Given the description of an element on the screen output the (x, y) to click on. 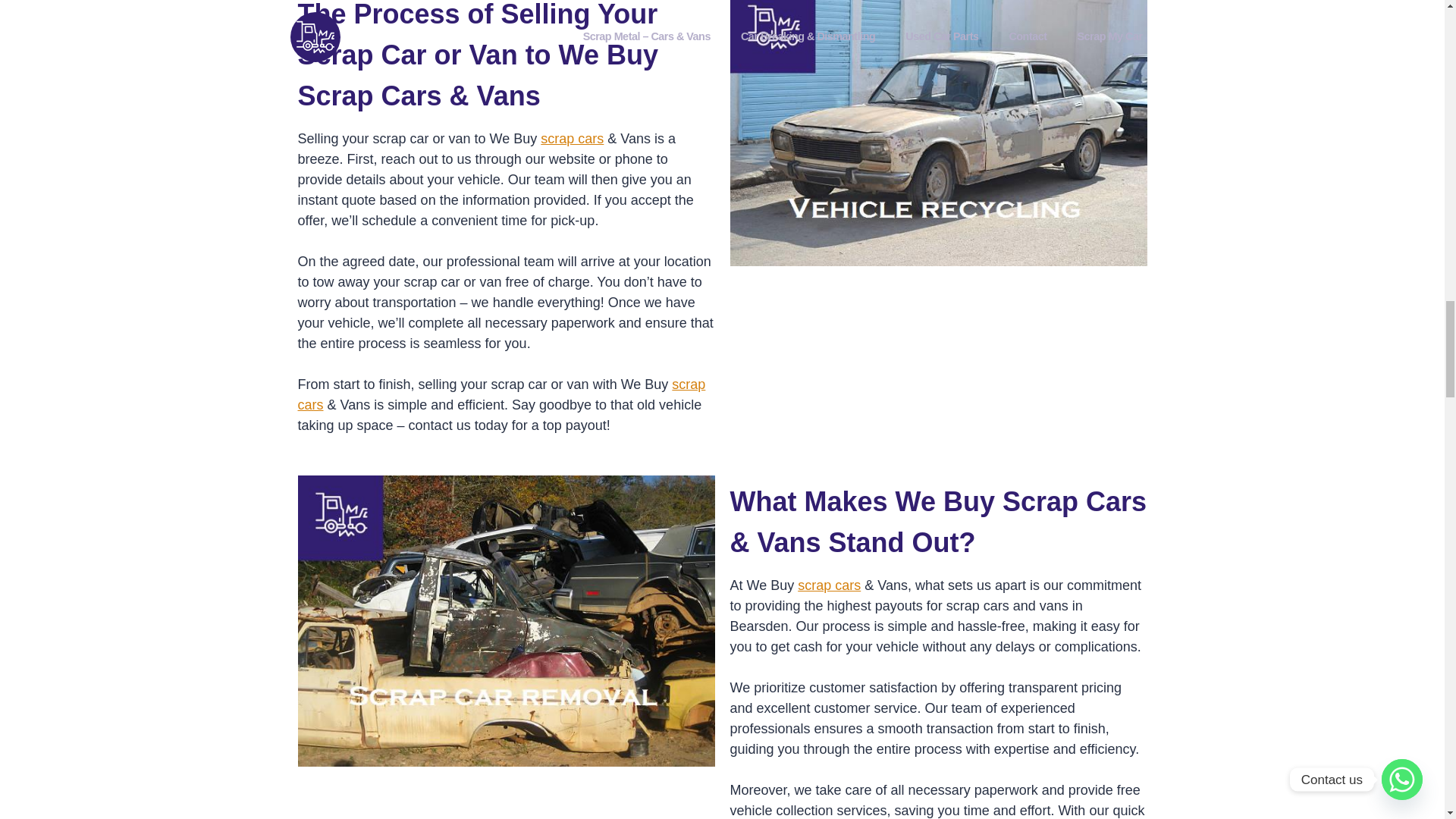
scrap cars (828, 585)
scrap cars (500, 394)
scrap cars (572, 138)
